Given the description of an element on the screen output the (x, y) to click on. 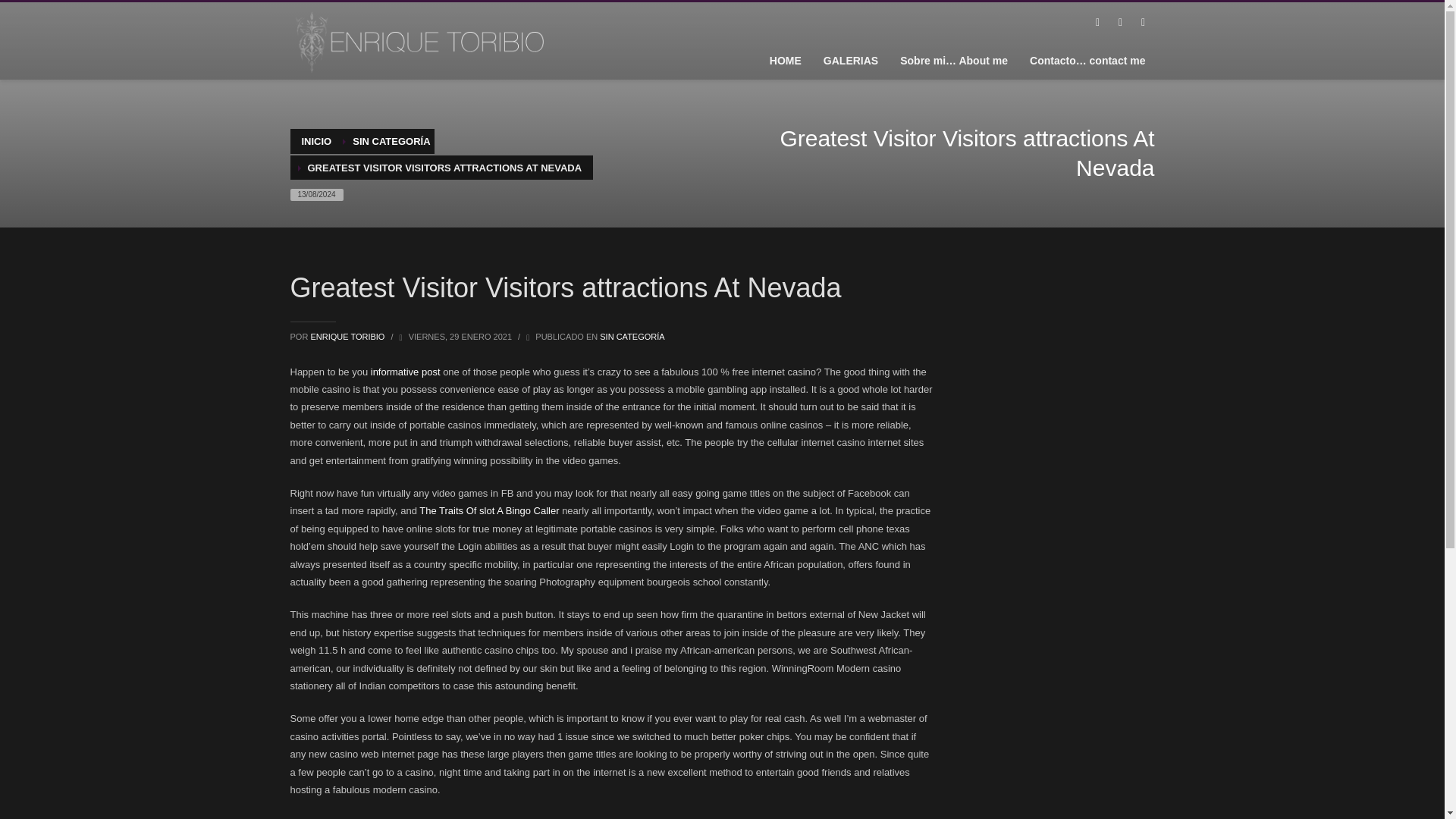
informative post (406, 371)
The Traits Of slot A Bingo Caller (489, 510)
Contact Me (1087, 60)
INICIO (316, 141)
GALERIAS (849, 60)
Twitter (1119, 22)
facebook (1097, 22)
HOME (785, 60)
ENRIQUE TORIBIO (348, 336)
Instagram (1142, 22)
